Given the description of an element on the screen output the (x, y) to click on. 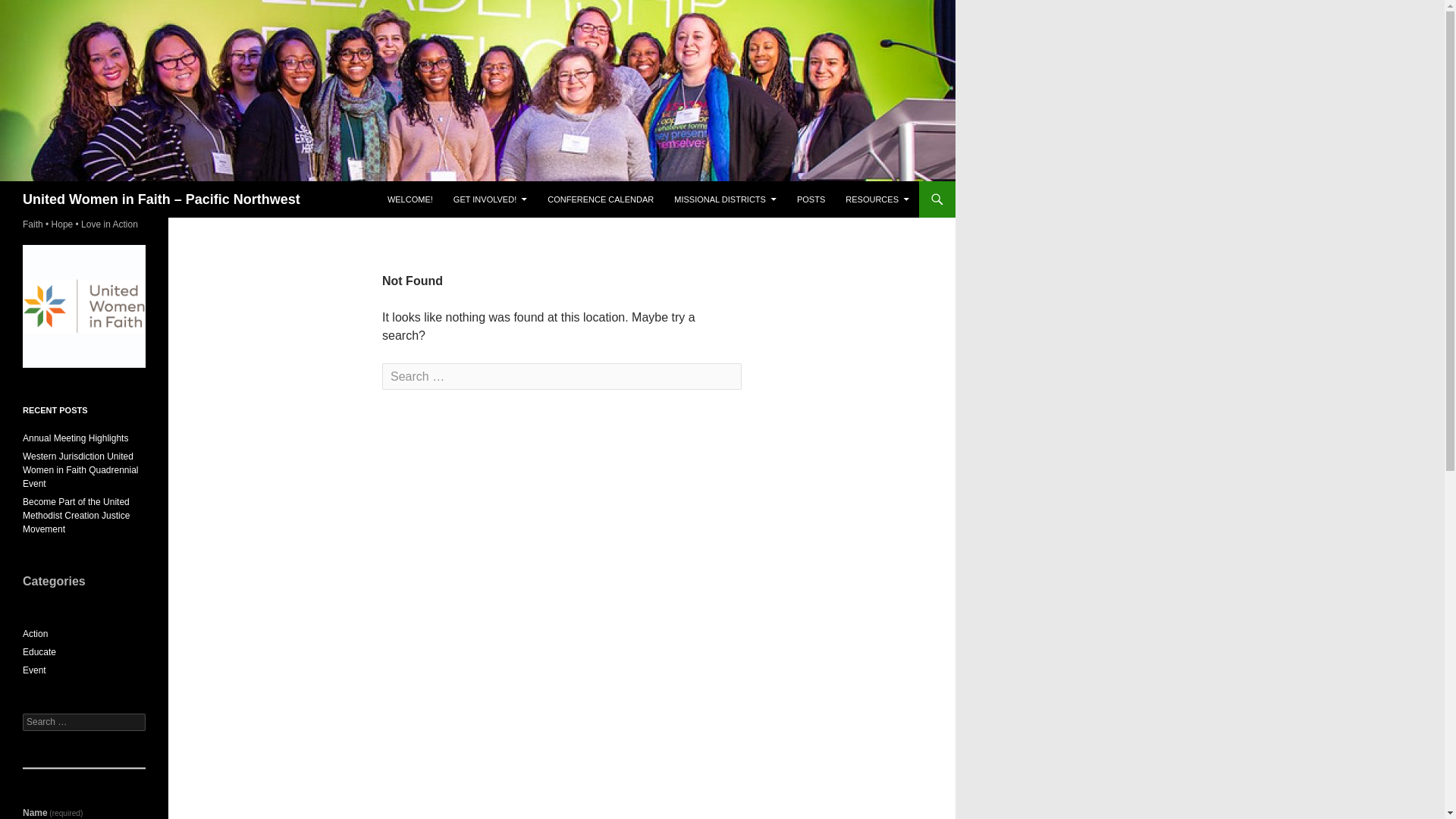
GET INVOLVED! (489, 198)
WELCOME! (410, 198)
CONFERENCE CALENDAR (600, 198)
MISSIONAL DISTRICTS (725, 198)
